Given the description of an element on the screen output the (x, y) to click on. 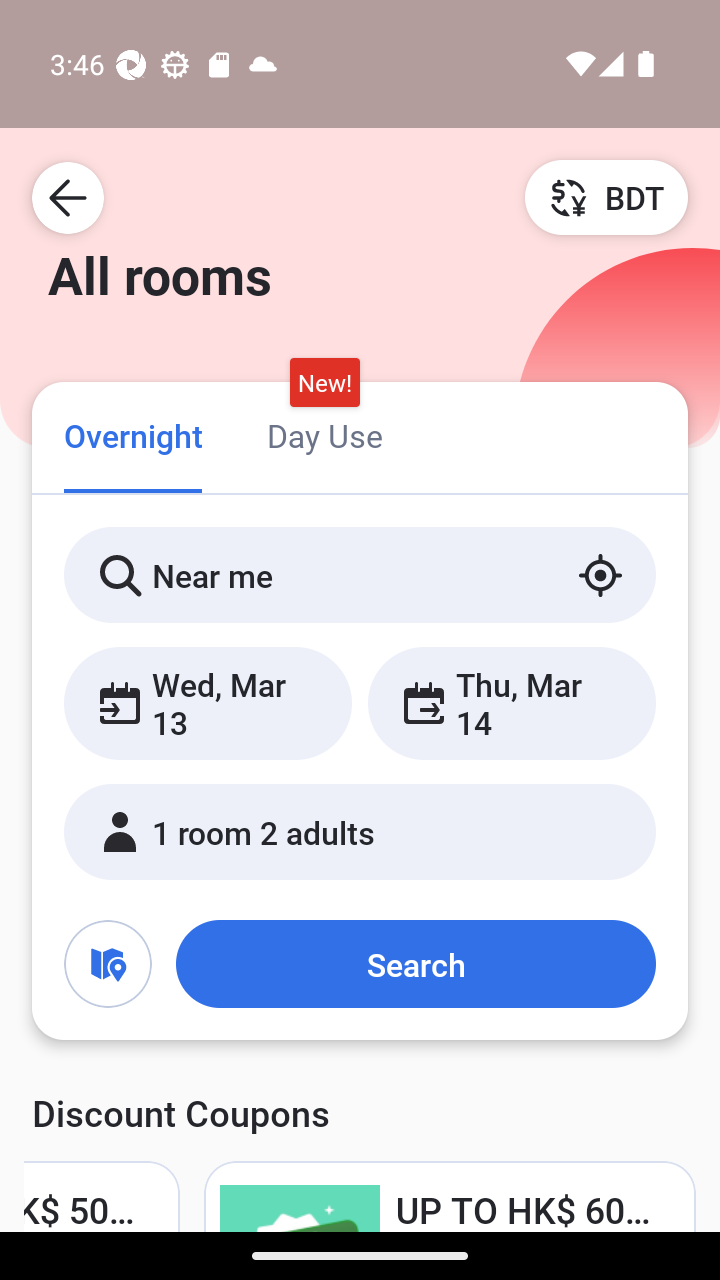
BDT (606, 197)
New! (324, 383)
Day Use (324, 434)
Near me (359, 575)
Wed, Mar 13 (208, 703)
Thu, Mar 14 (511, 703)
1 room 2 adults (359, 831)
Search (415, 964)
